Given the description of an element on the screen output the (x, y) to click on. 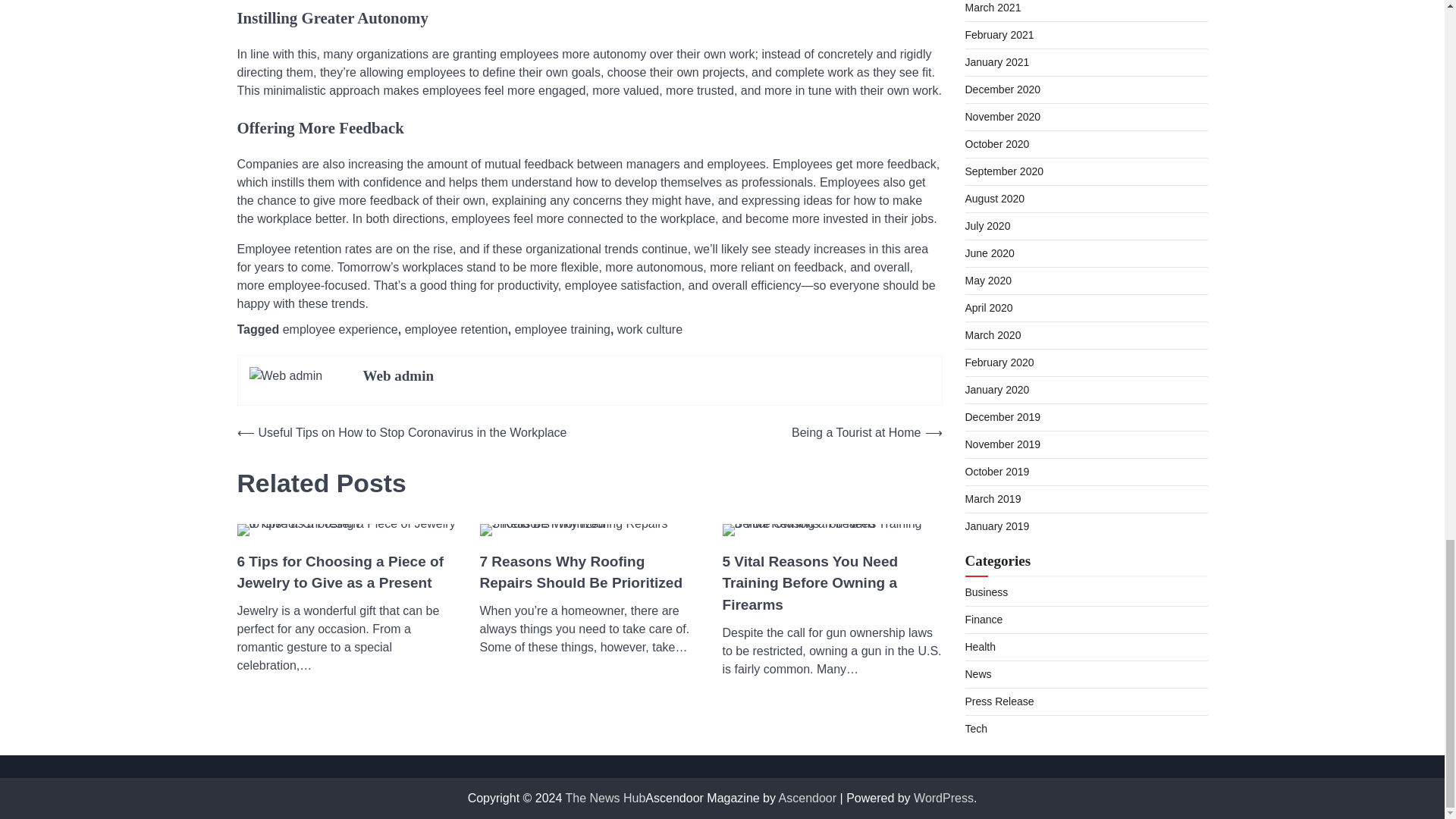
employee retention (456, 328)
employee training (562, 328)
7 Reasons Why Roofing Repairs Should Be Prioritized (588, 572)
6 Tips for Choosing a Piece of Jewelry to Give as a Present (346, 572)
5 Vital Reasons You Need Training Before Owning a Firearms (832, 583)
employee experience (339, 328)
work culture (649, 328)
